Given the description of an element on the screen output the (x, y) to click on. 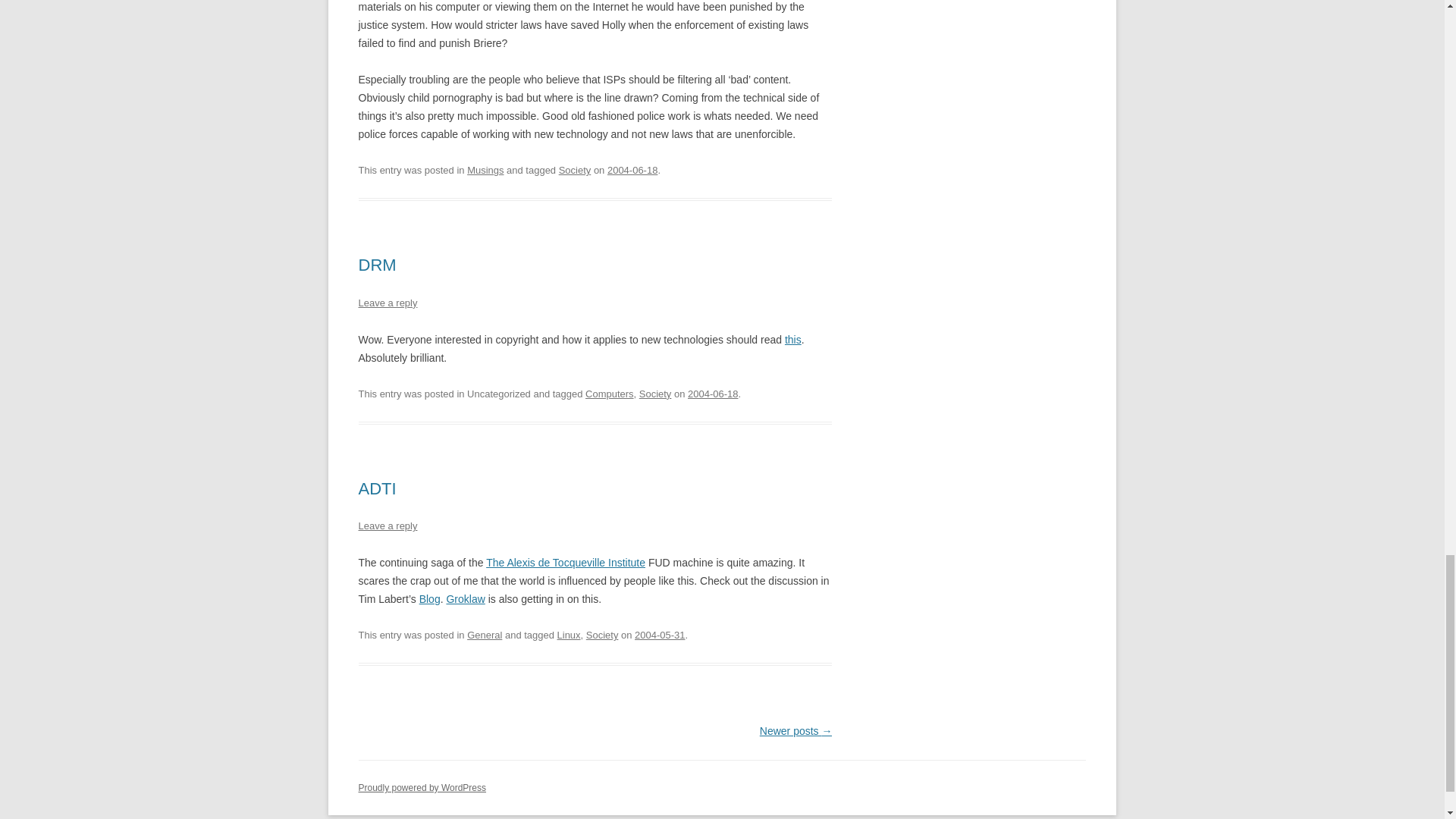
0922 (659, 634)
this (793, 339)
2004-06-18 (632, 170)
DRM (377, 264)
Leave a reply (387, 302)
Musings (485, 170)
2129 (632, 170)
Computers (609, 393)
Society (575, 170)
1518 (712, 393)
Society (655, 393)
Semantic Personal Publishing Platform (422, 787)
